Given the description of an element on the screen output the (x, y) to click on. 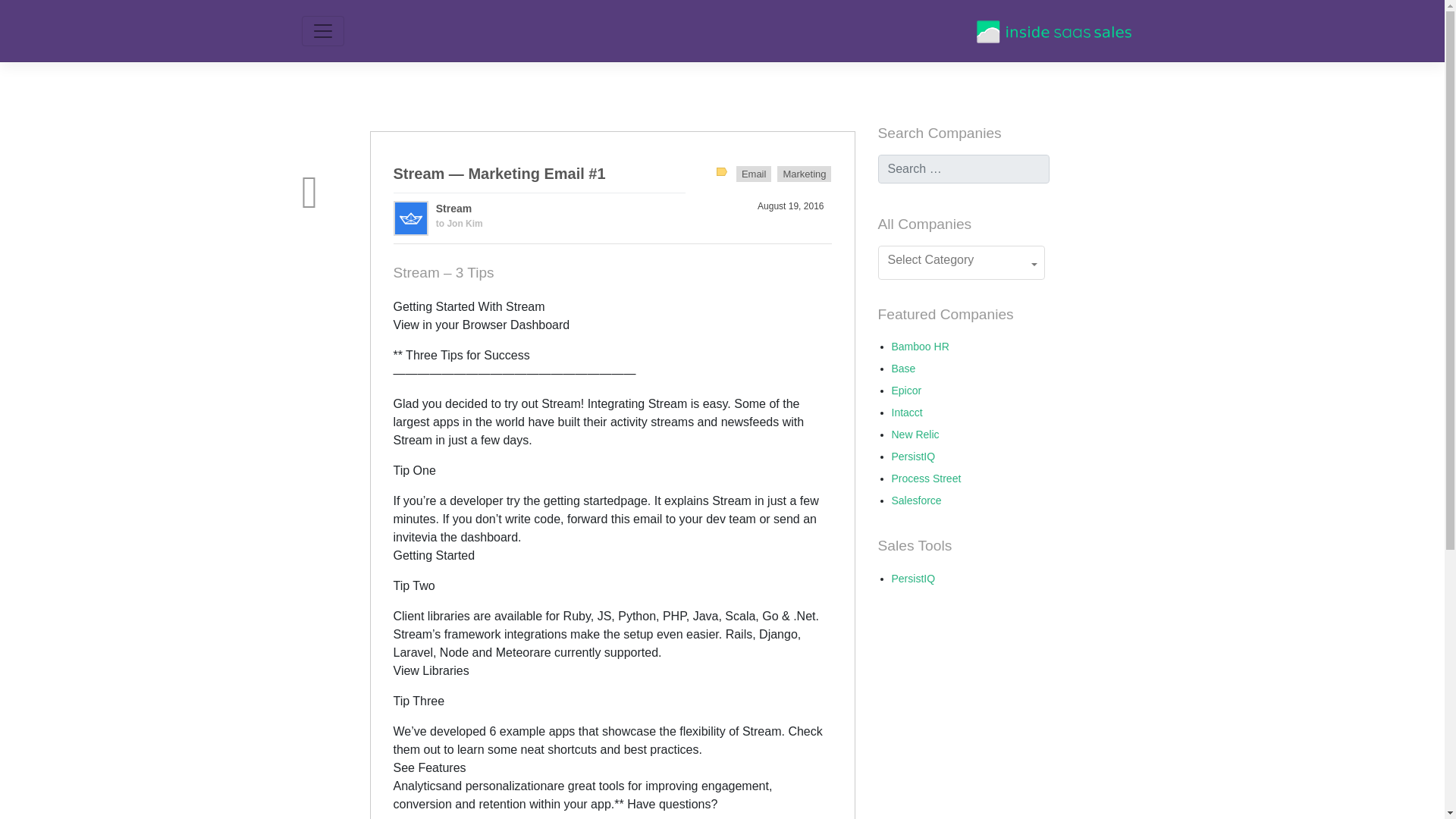
Select Category  (961, 262)
Stream (453, 208)
Email (753, 173)
Search (29, 14)
Inside SaaS Sales (1053, 30)
August 19, 2016 (790, 205)
Marketing (804, 173)
Search for: (963, 168)
Select Category (961, 262)
